Given the description of an element on the screen output the (x, y) to click on. 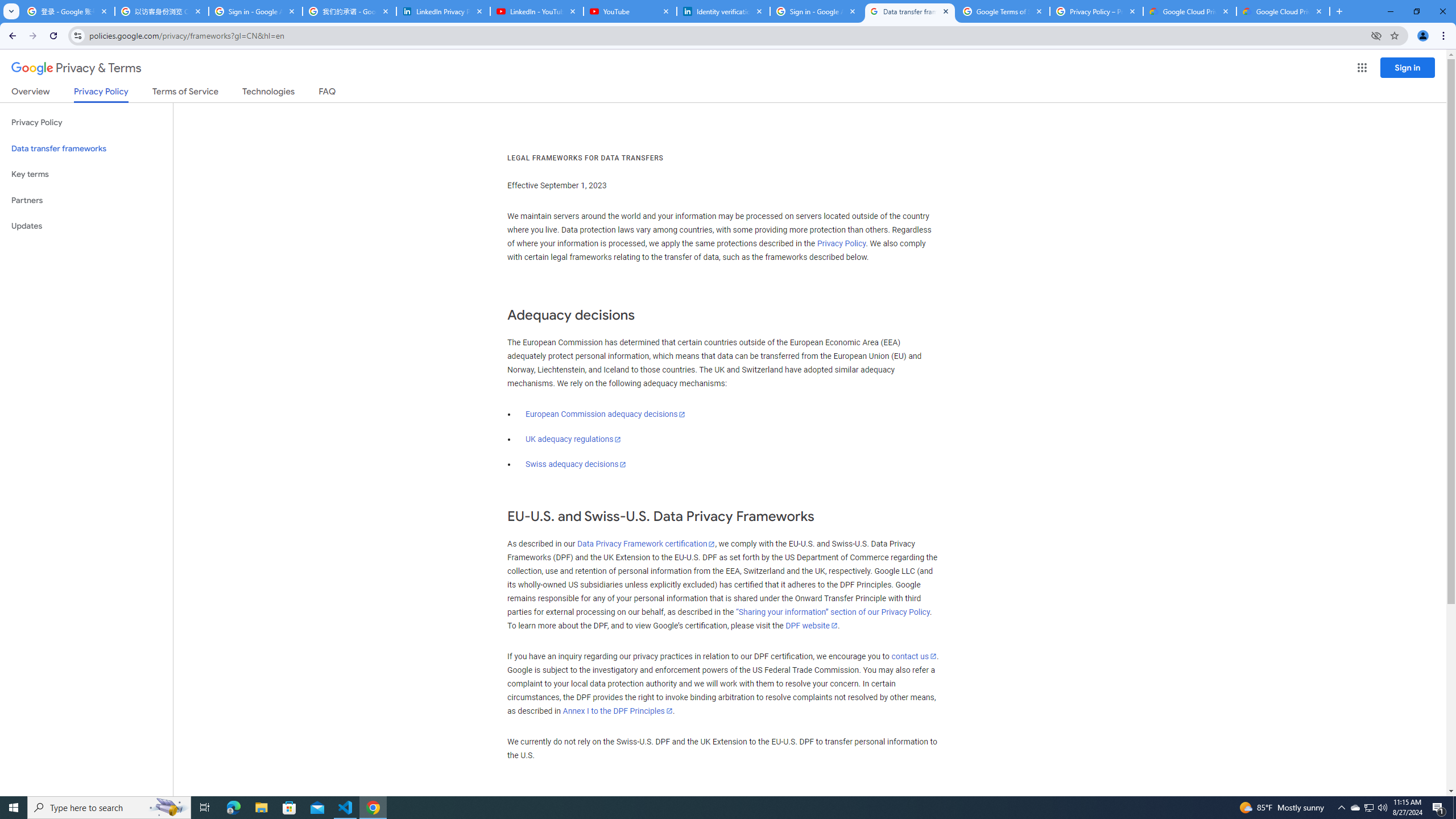
Privacy & Terms (76, 68)
LinkedIn Privacy Policy (443, 11)
Google Cloud Privacy Notice (1283, 11)
contact us (913, 656)
UK adequacy regulations (573, 439)
Partners (86, 199)
Sign in - Google Accounts (255, 11)
FAQ (327, 93)
